Given the description of an element on the screen output the (x, y) to click on. 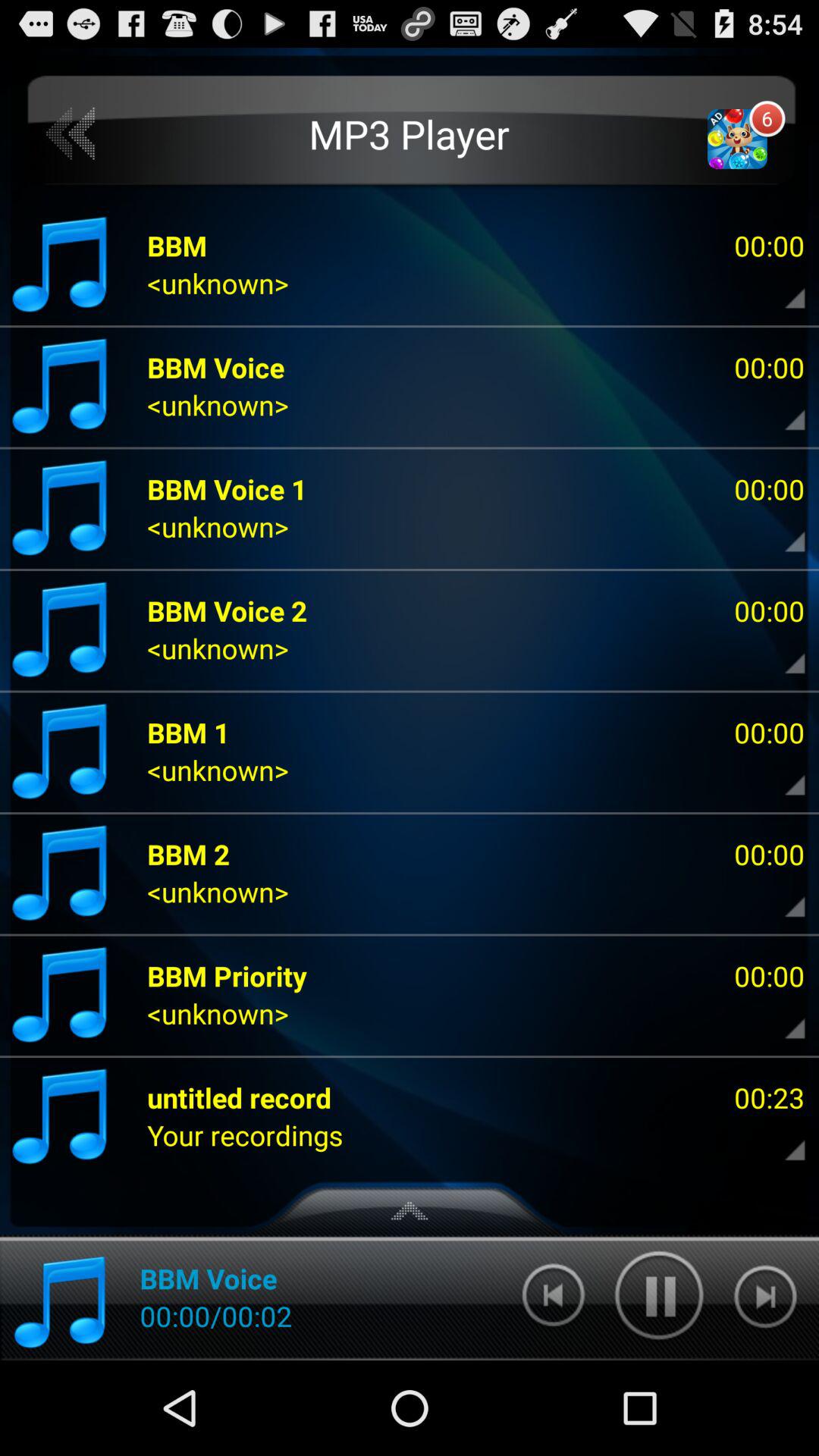
view details (782, 774)
